Given the description of an element on the screen output the (x, y) to click on. 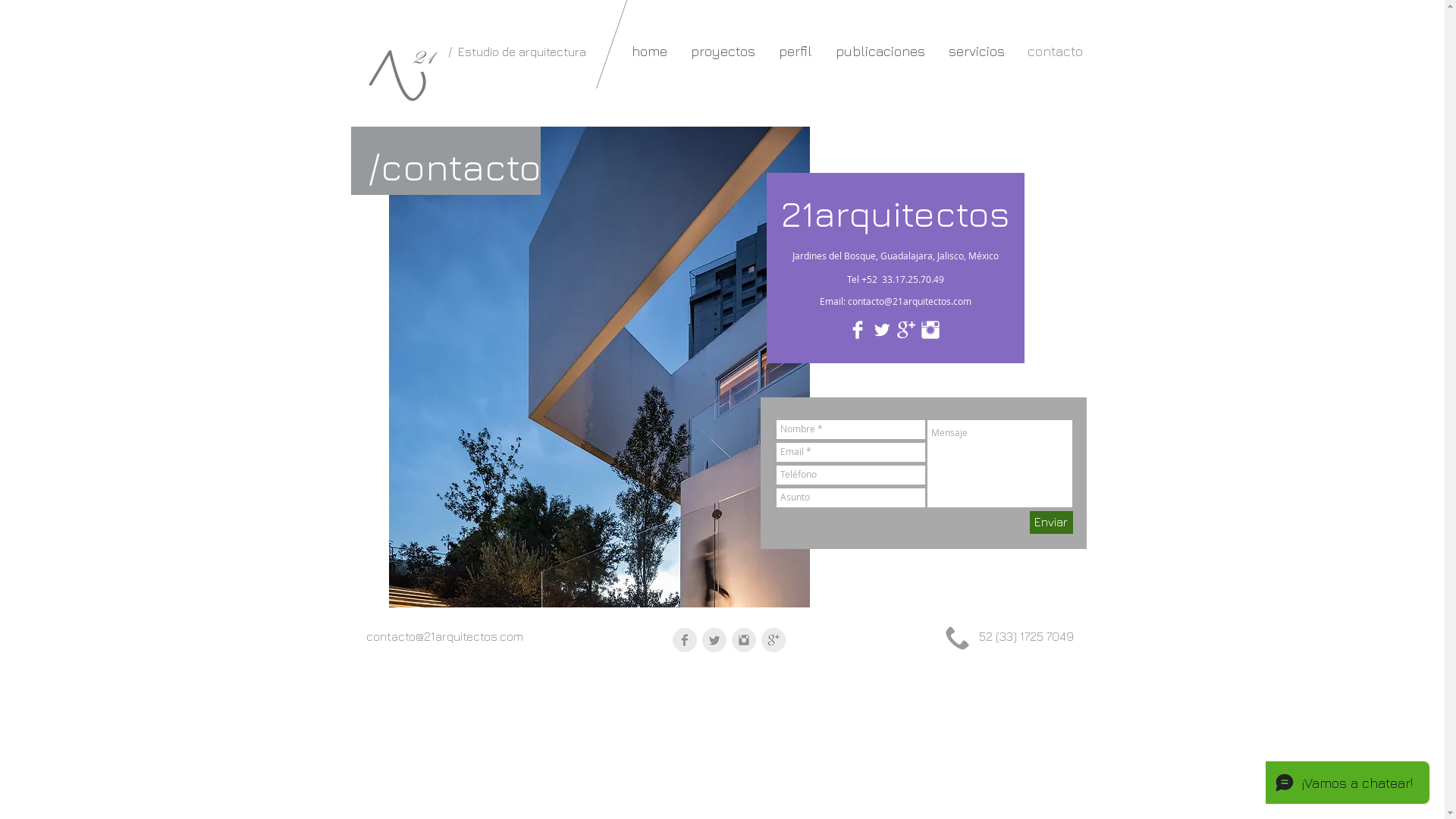
home Element type: text (649, 50)
contacto Element type: text (1055, 50)
Casa 10 Editada.png Element type: hover (598, 366)
contacto@21arquitectos.com Element type: text (909, 300)
contacto@21arquitectos.com Element type: text (443, 636)
servicios Element type: text (976, 50)
proyectos Element type: text (723, 50)
Enviar Element type: text (1051, 522)
publicaciones Element type: text (879, 50)
Logo 21 arq gris.png Element type: hover (398, 91)
perfil Element type: text (795, 50)
